Given the description of an element on the screen output the (x, y) to click on. 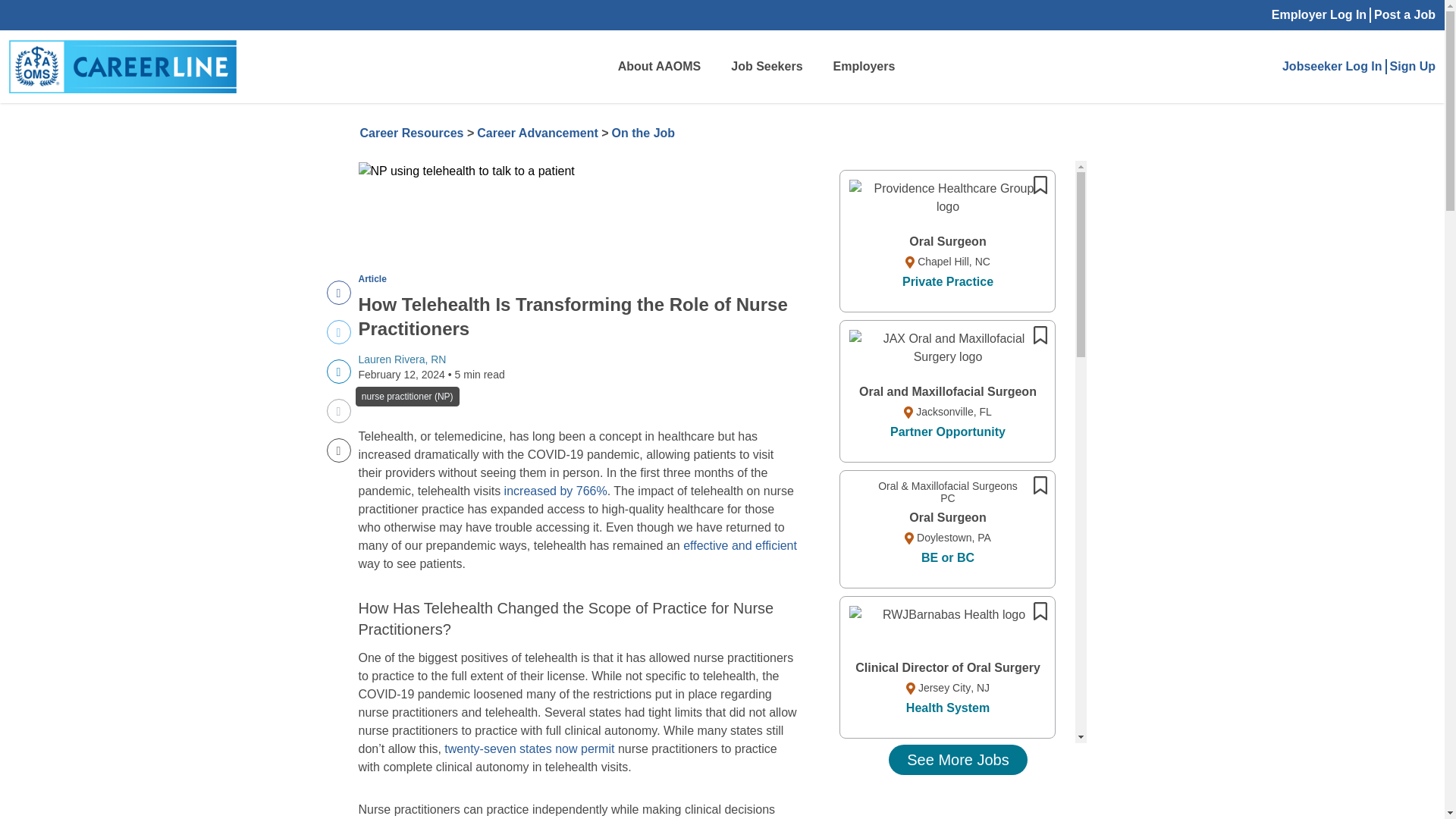
Employer Log In (1319, 14)
print (338, 410)
Career Resources (411, 132)
On the Job (643, 132)
Lauren Rivera, RN (338, 371)
linkedin (338, 331)
Career Advancement (401, 358)
About AAOMS (338, 371)
